Given the description of an element on the screen output the (x, y) to click on. 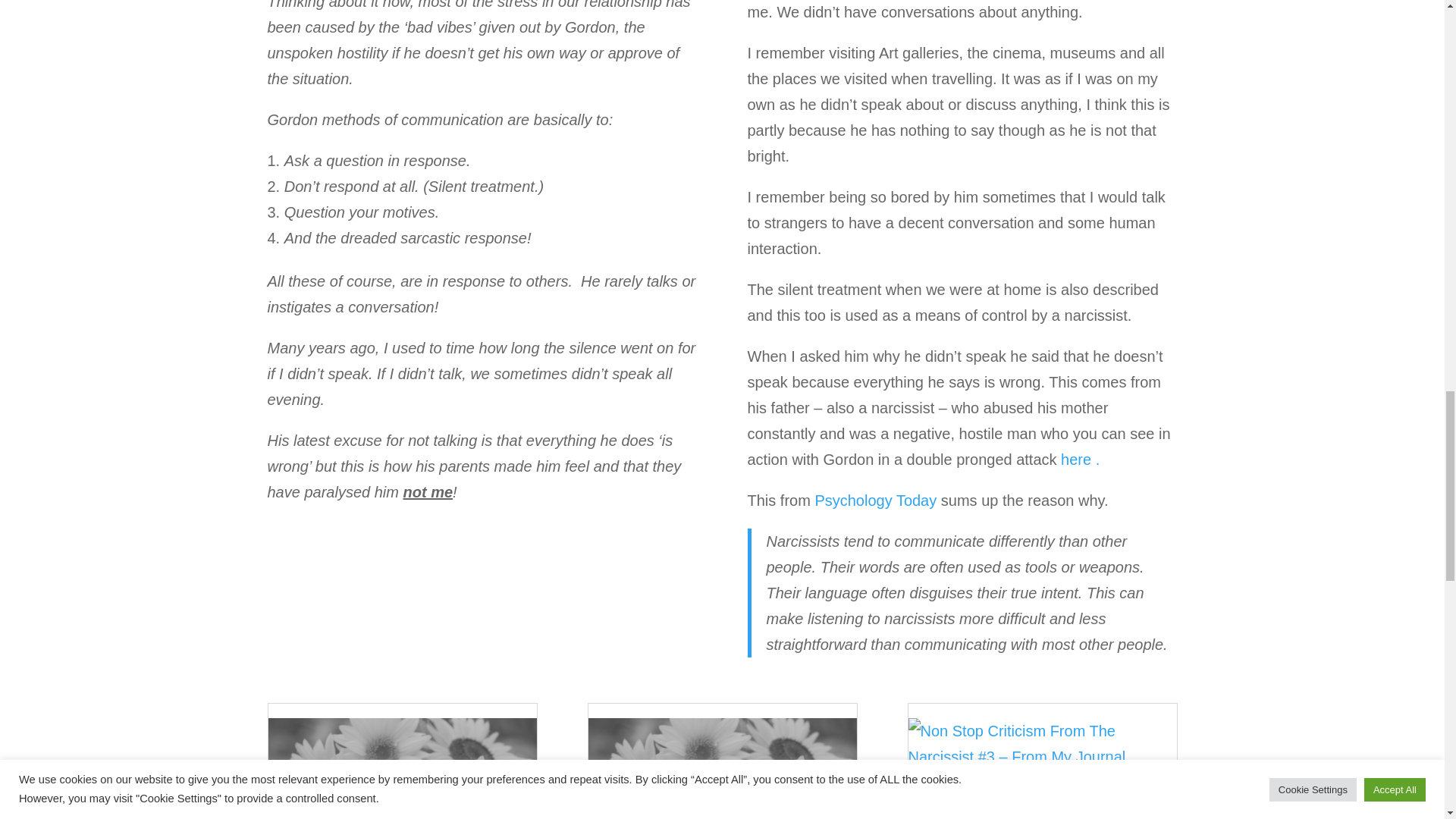
Psychology Today (874, 500)
here . (1080, 459)
